Given the description of an element on the screen output the (x, y) to click on. 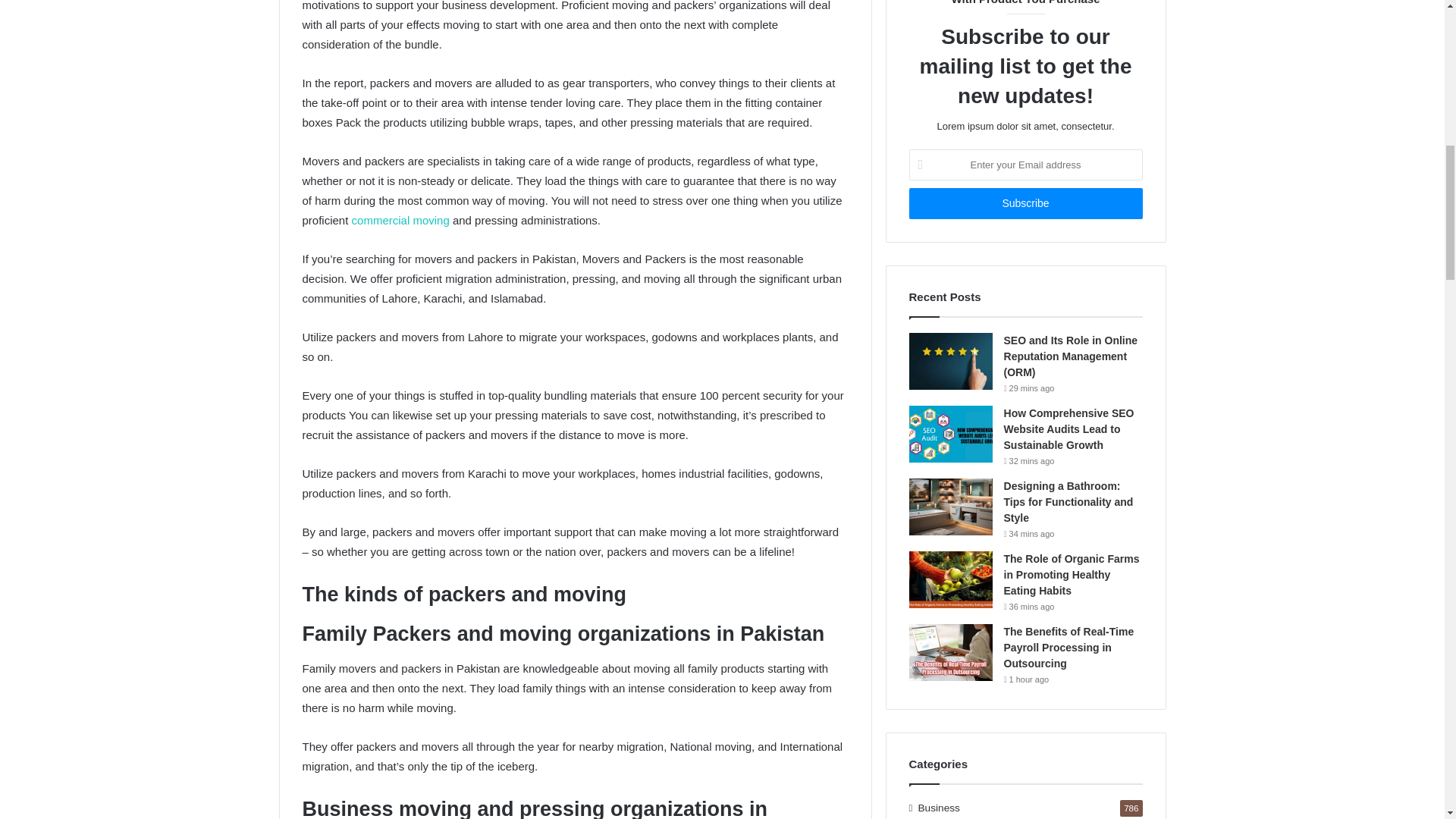
Subscribe (1025, 203)
commercial moving (400, 219)
